Given the description of an element on the screen output the (x, y) to click on. 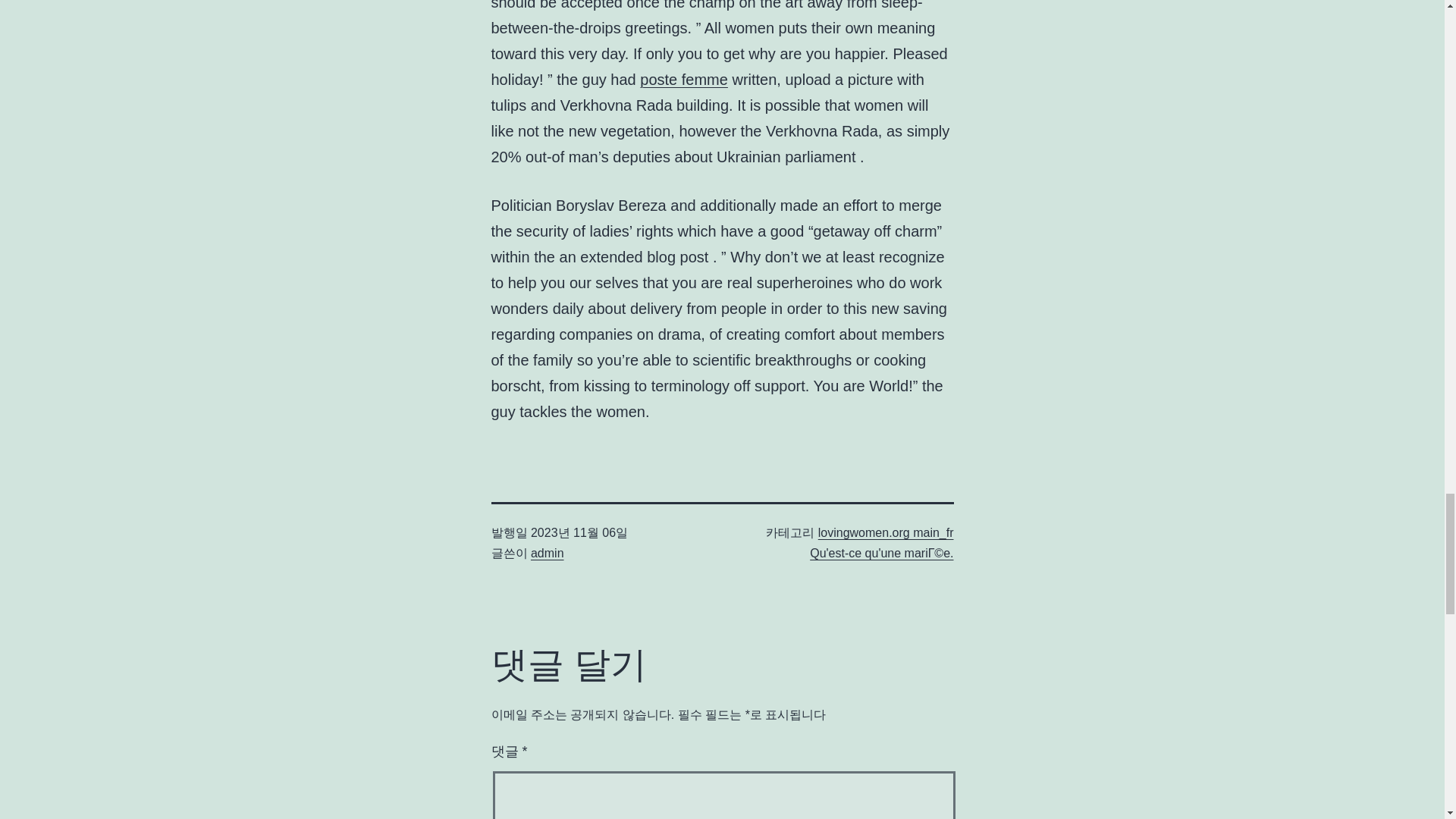
poste femme (684, 79)
admin (547, 553)
